Given the description of an element on the screen output the (x, y) to click on. 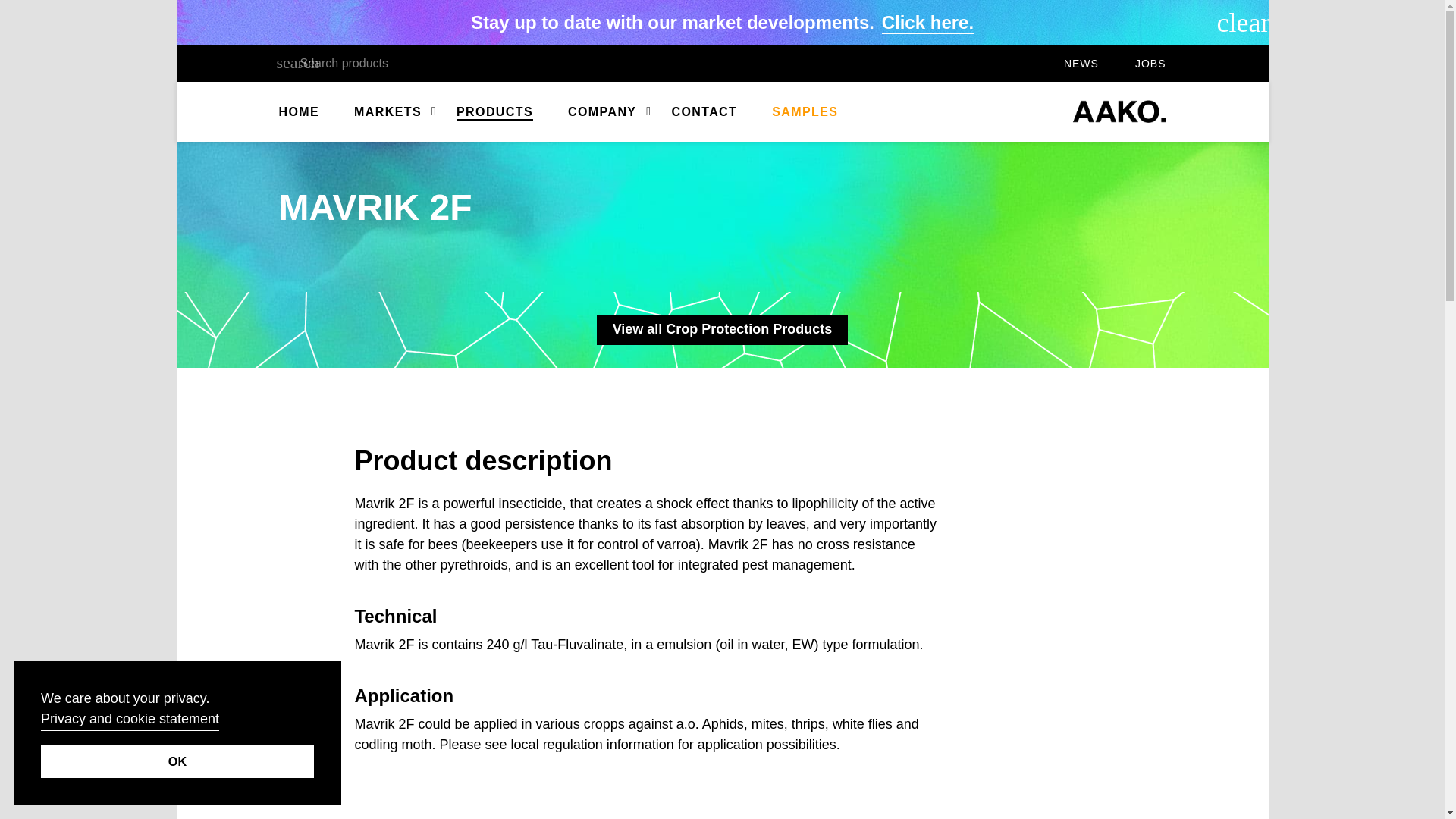
Click here. (928, 23)
OK (177, 761)
COMPANY (601, 111)
MARKETS (387, 111)
Privacy and cookie statement (129, 720)
HOME (299, 111)
PRODUCTS (494, 111)
NEWS (1081, 63)
CONTACT (703, 111)
SAMPLES (804, 111)
